Given the description of an element on the screen output the (x, y) to click on. 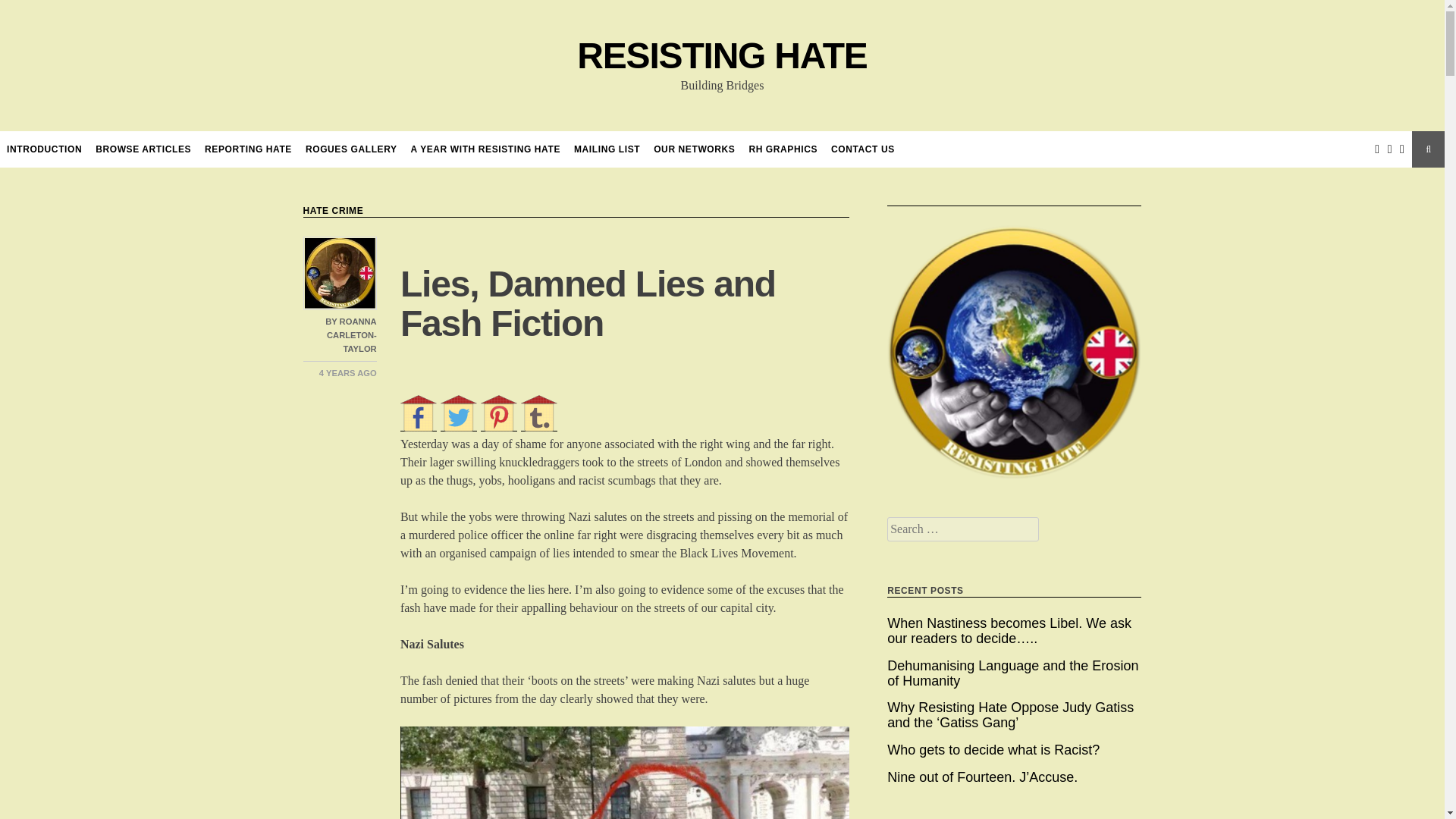
OUR NETWORKS (694, 149)
BROWSE ARTICLES (143, 149)
A YEAR WITH RESISTING HATE (485, 149)
RH GRAPHICS (782, 149)
Pin it with Pinterest (498, 412)
INTRODUCTION (44, 149)
RESISTING HATE (721, 56)
CONTACT US (863, 149)
ROGUES GALLERY (351, 149)
MAILING LIST (606, 149)
HATE CRIME (333, 210)
Share on tumblr (539, 412)
Tweet (459, 412)
REPORTING HATE (248, 149)
Share on Facebook (418, 412)
